Given the description of an element on the screen output the (x, y) to click on. 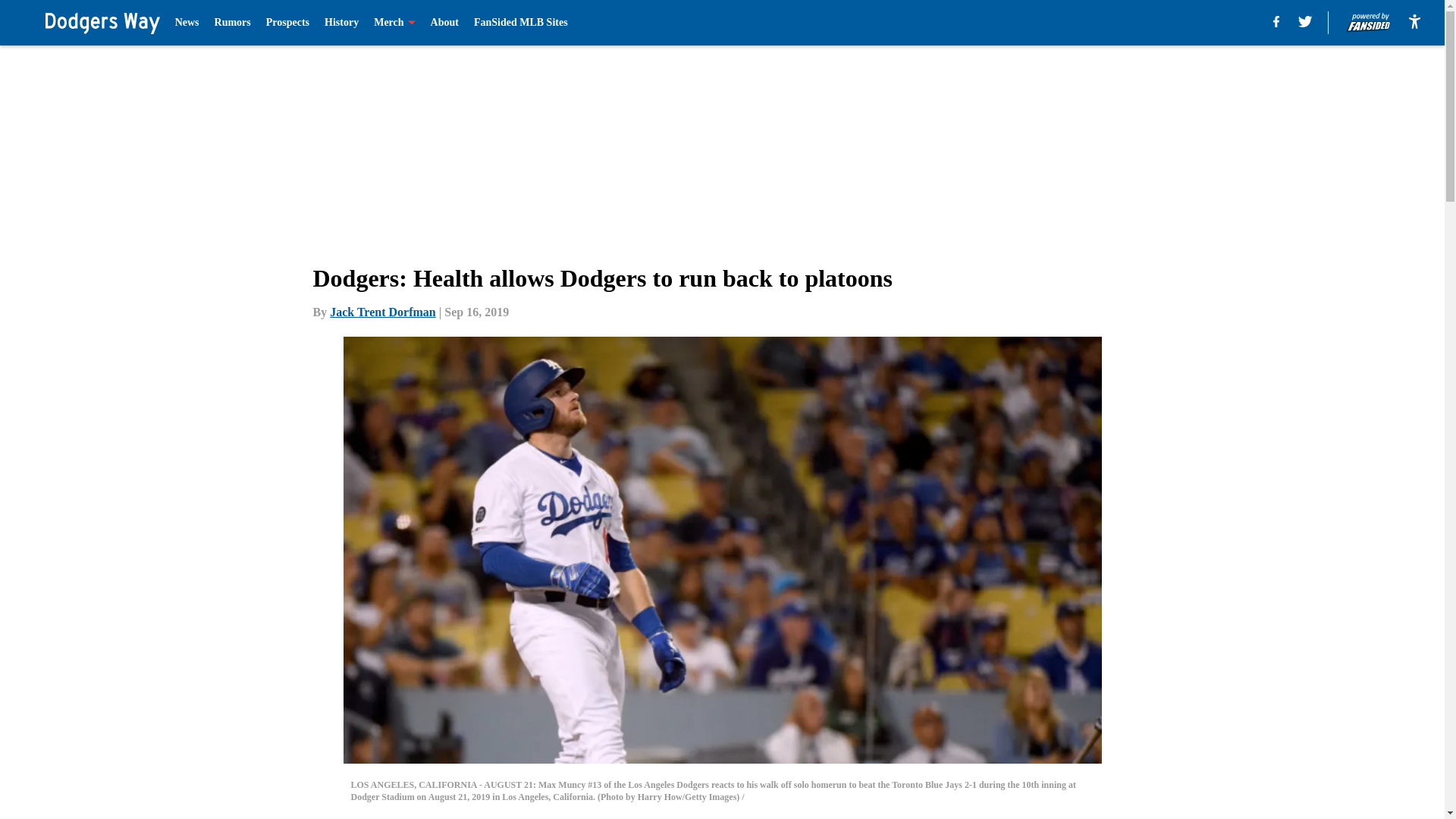
Rumors (232, 22)
Prospects (287, 22)
FanSided MLB Sites (520, 22)
News (186, 22)
History (341, 22)
About (444, 22)
Jack Trent Dorfman (382, 311)
